Given the description of an element on the screen output the (x, y) to click on. 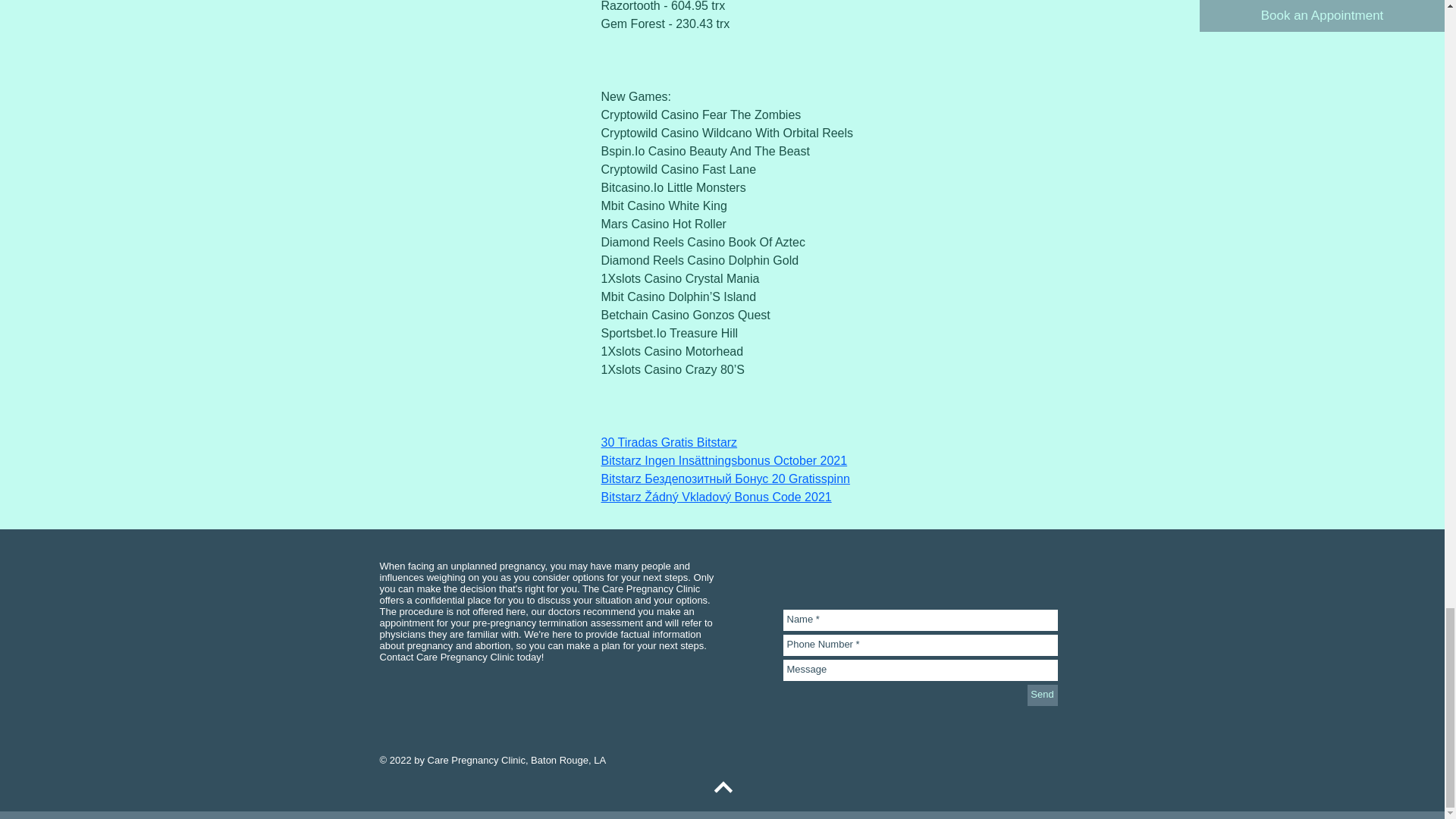
Send (1041, 694)
30 Tiradas Gratis Bitstarz (667, 441)
